Given the description of an element on the screen output the (x, y) to click on. 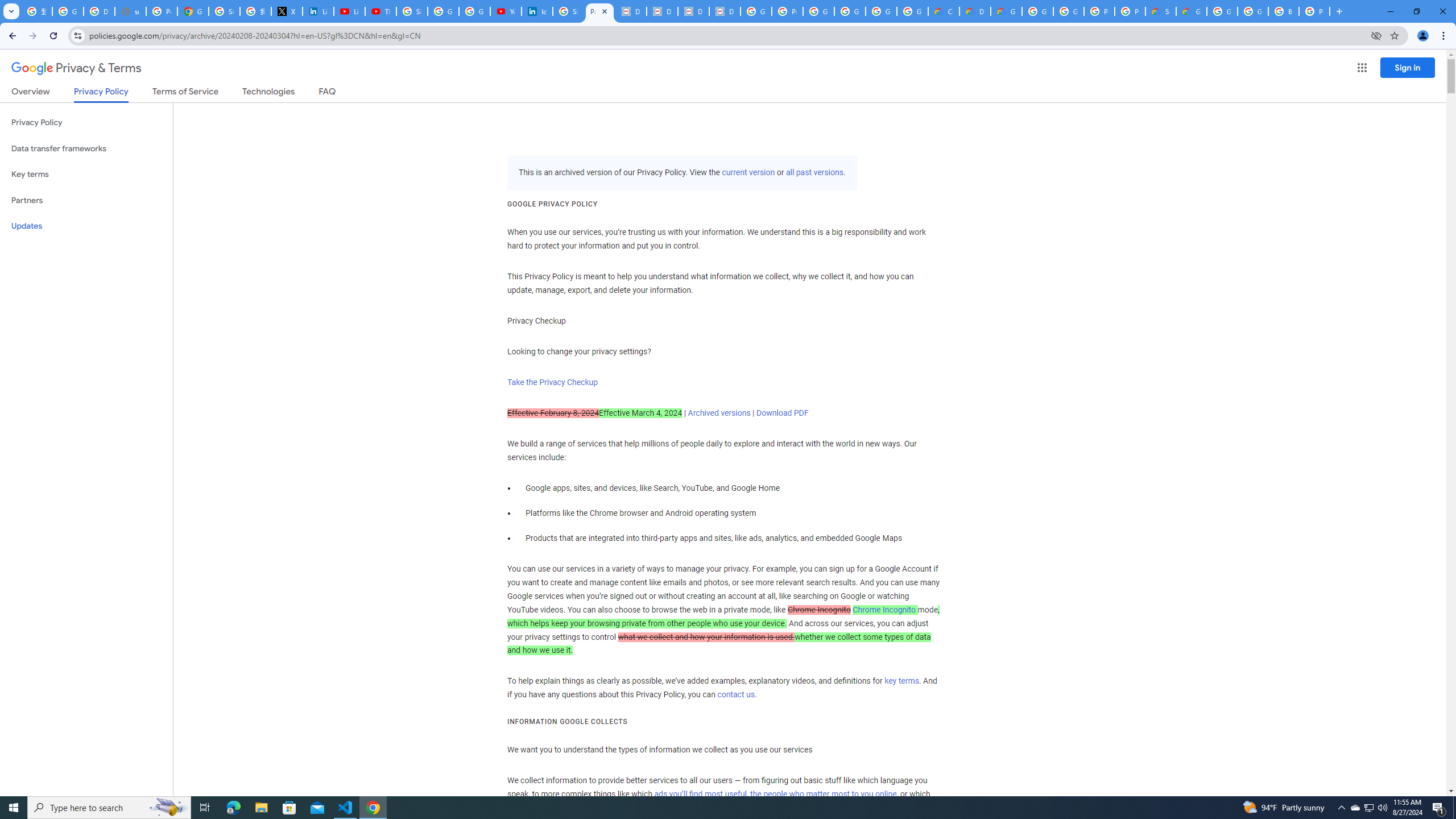
Sign in - Google Accounts (223, 11)
Privacy Help Center - Policies Help (161, 11)
Google Cloud Platform (1252, 11)
Customer Care | Google Cloud (943, 11)
support.google.com - Network error (130, 11)
